Given the description of an element on the screen output the (x, y) to click on. 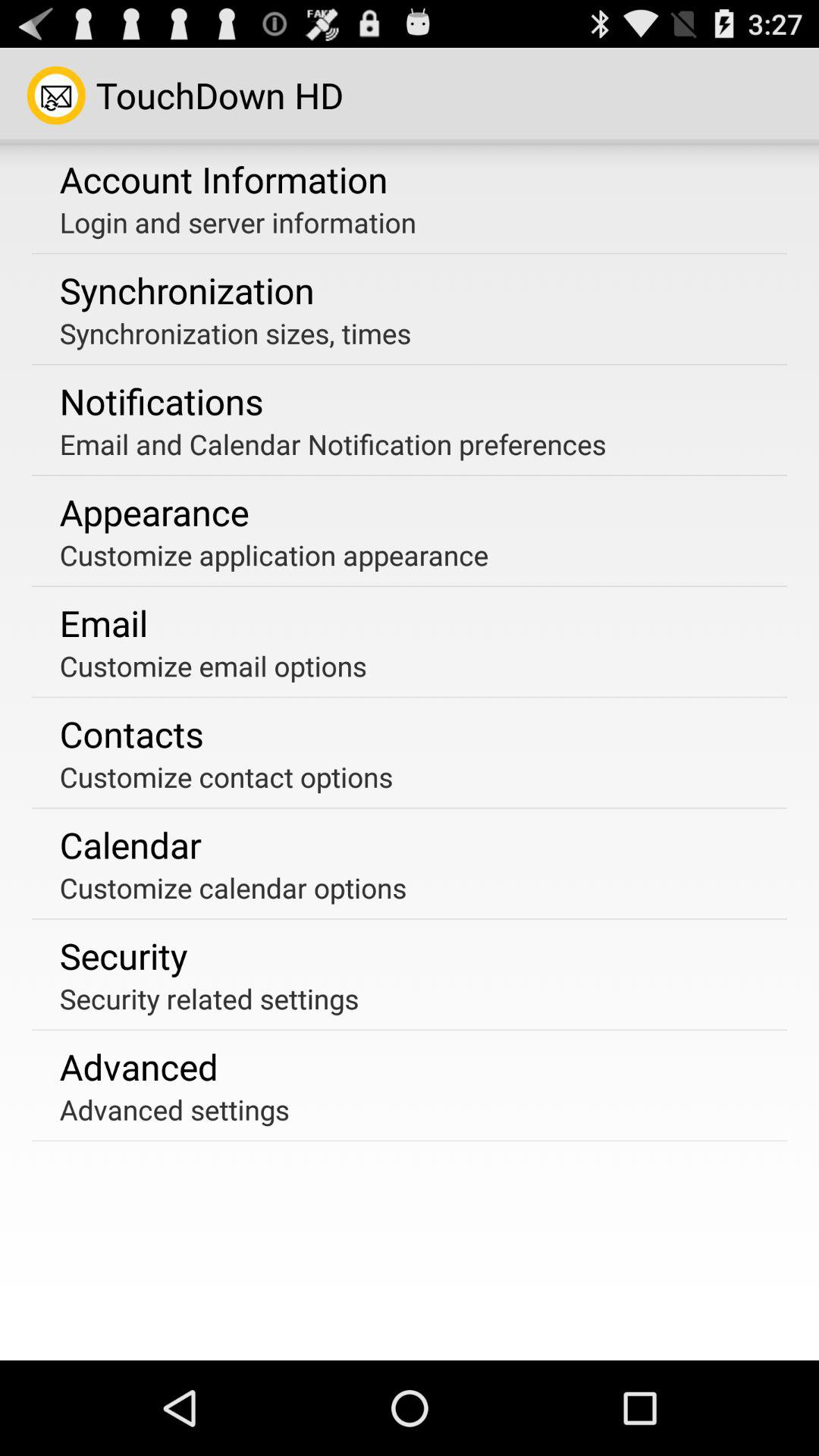
select the item above the email item (273, 554)
